Given the description of an element on the screen output the (x, y) to click on. 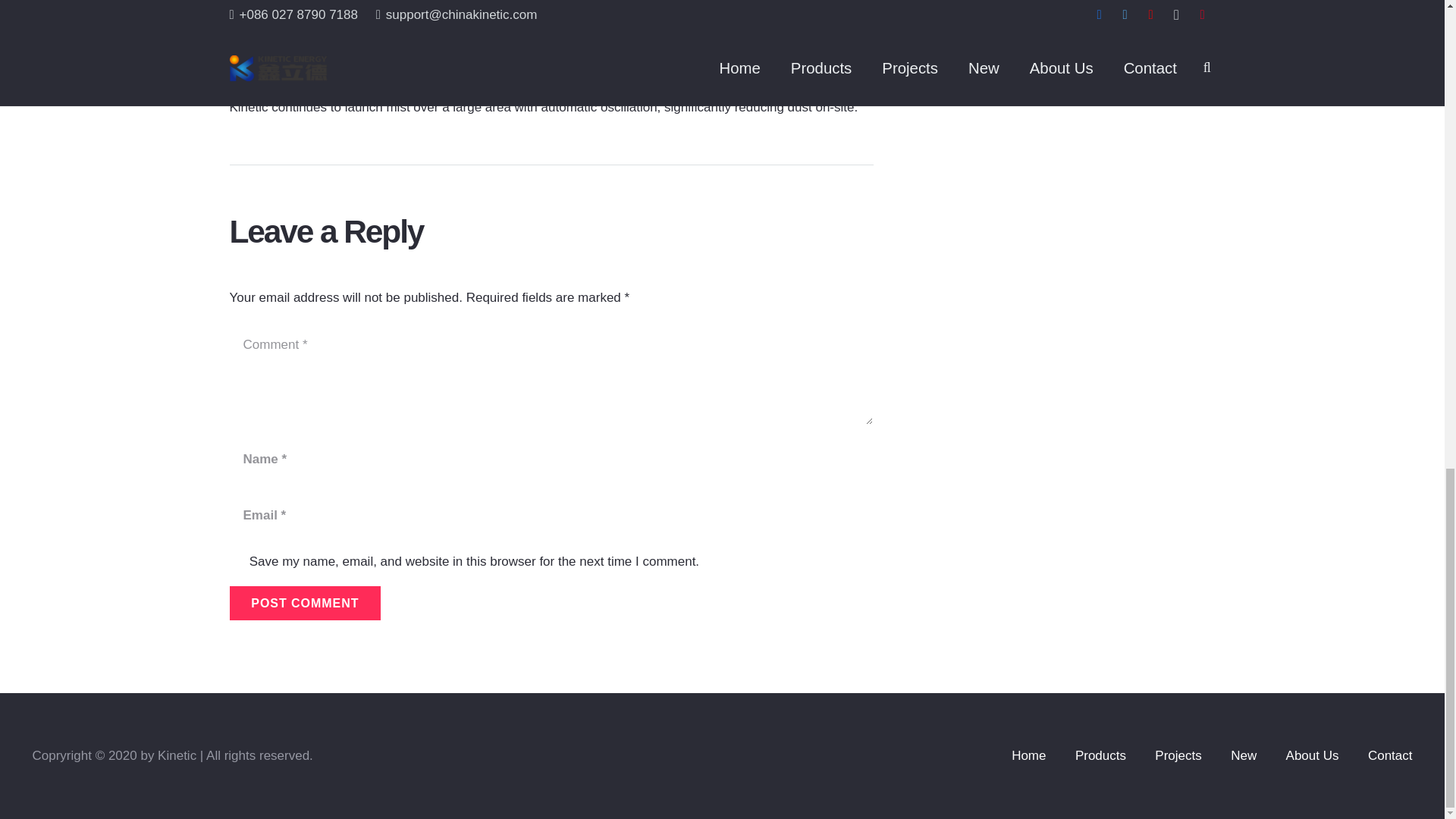
1 (236, 559)
POST COMMENT (304, 602)
